Given the description of an element on the screen output the (x, y) to click on. 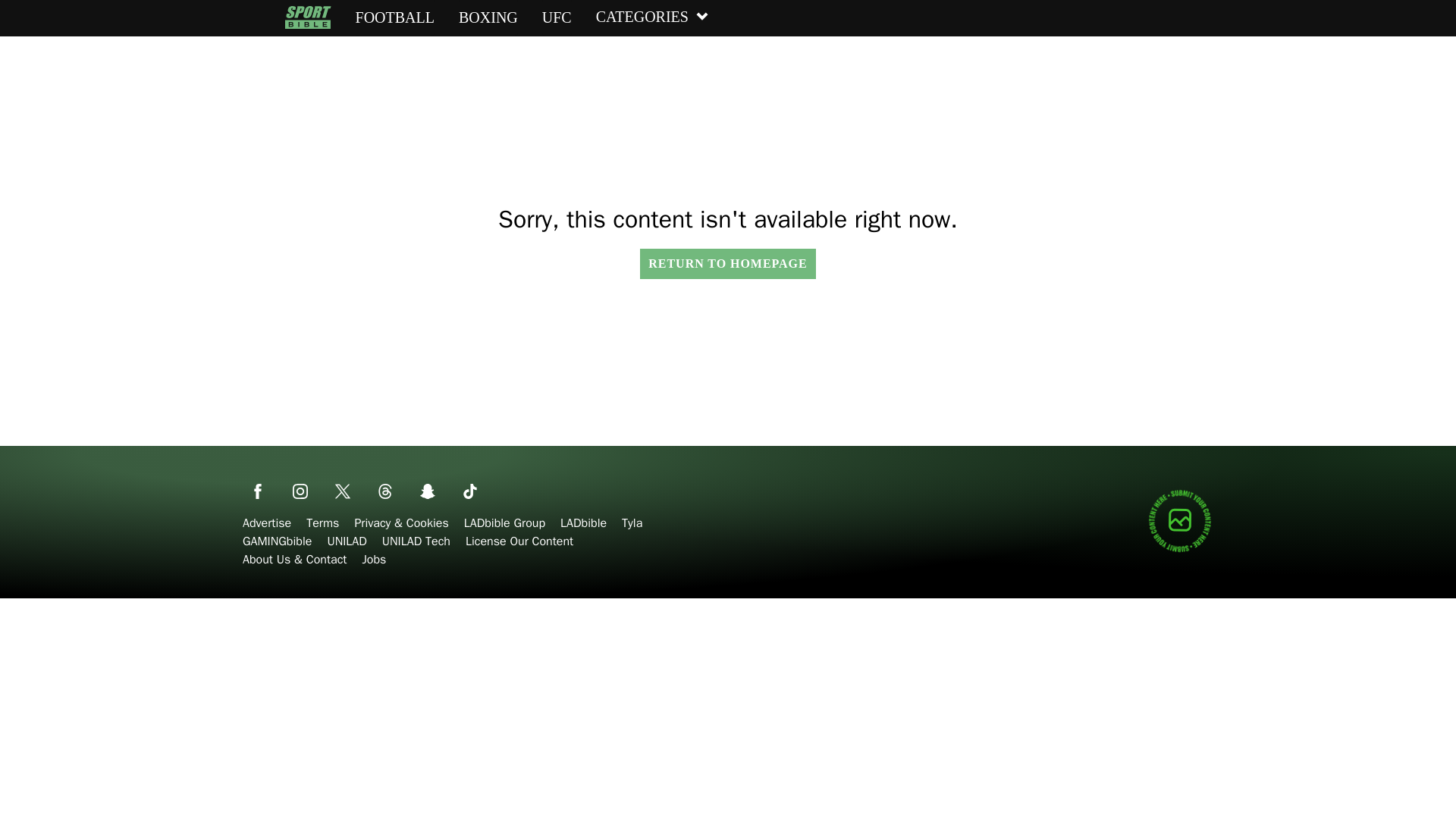
BOXING (488, 17)
FOOTBALL (394, 17)
